Given the description of an element on the screen output the (x, y) to click on. 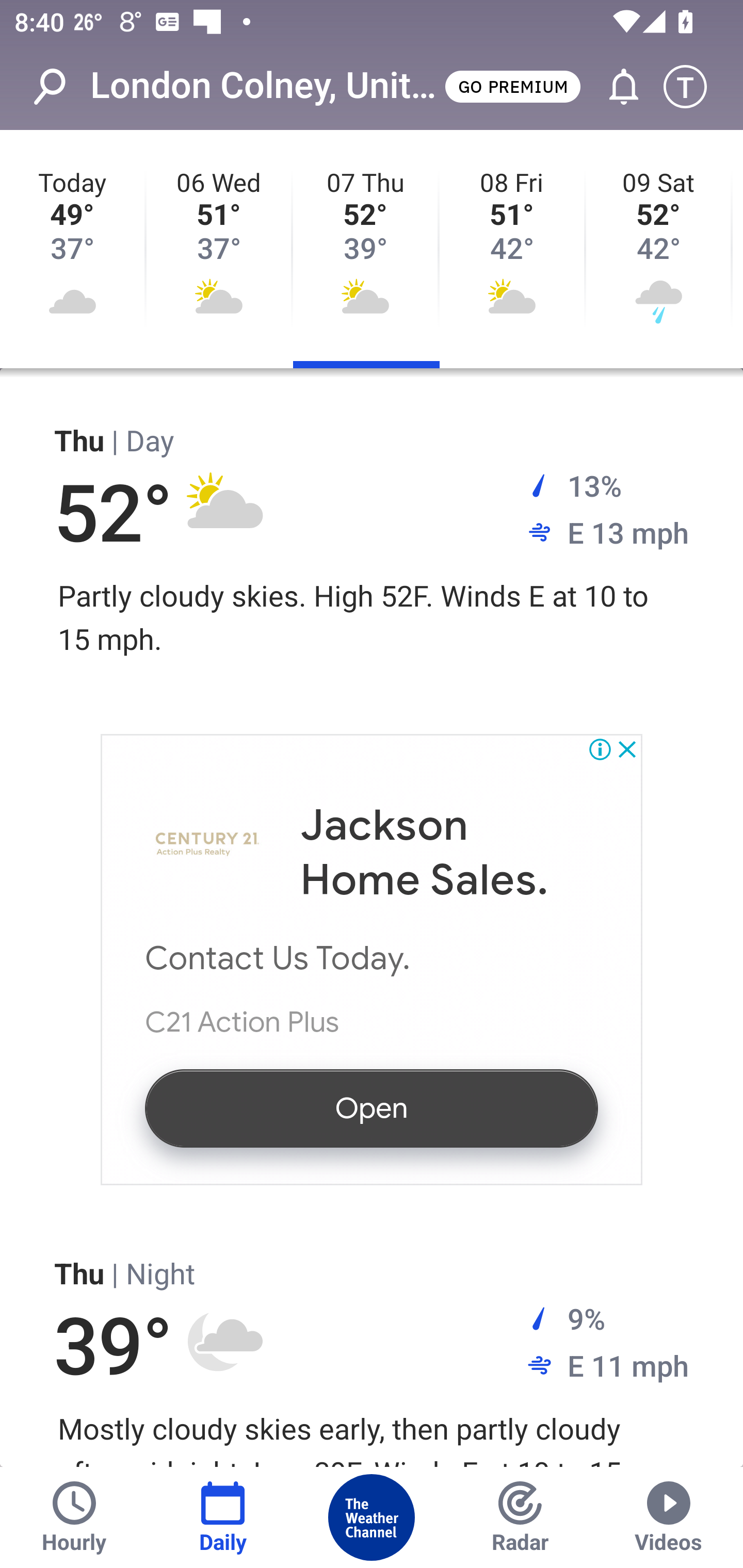
Search (59, 86)
Go to Alerts and Notifications (614, 86)
Setting icon T (694, 86)
London Colney, United Kingdom (265, 85)
GO PREMIUM (512, 85)
C21 Action Plus (207, 844)
Jackson Home Sales. Jackson Home Sales. (424, 854)
Contact Us Today. (278, 958)
C21 Action Plus (242, 1021)
Open (371, 1108)
Hourly Tab Hourly (74, 1517)
Home Tab (371, 1517)
Radar Tab Radar (519, 1517)
Videos Tab Videos (668, 1517)
